Given the description of an element on the screen output the (x, y) to click on. 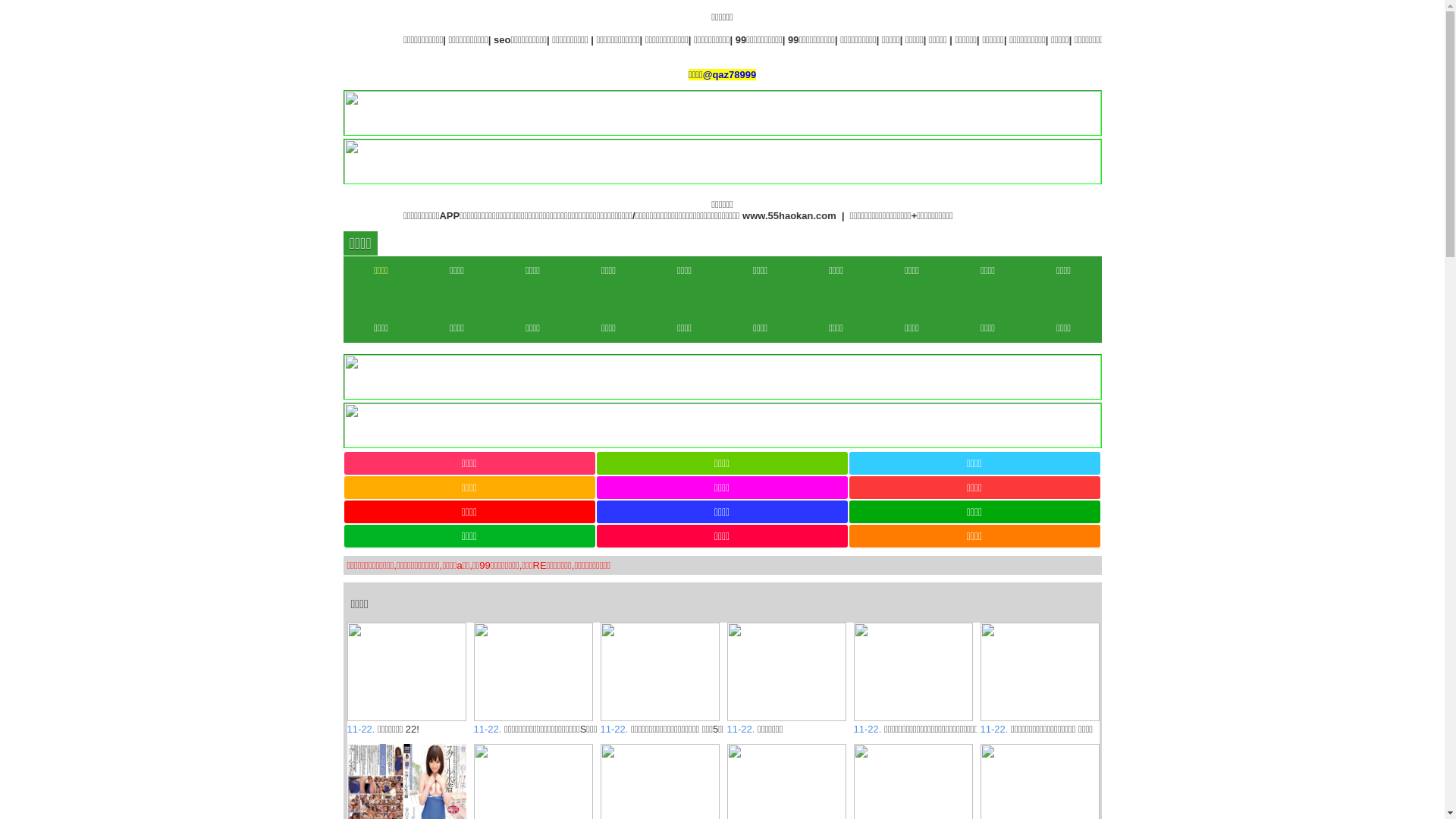
| Element type: text (1254, 39)
| Element type: text (1022, 39)
| Element type: text (848, 39)
| Element type: text (1229, 39)
| Element type: text (1206, 39)
| Element type: text (1341, 39)
| Element type: text (1162, 39)
www.55haokan.com Element type: text (1055, 215)
| Element type: text (936, 39)
| Element type: text (1072, 39)
| Element type: text (1319, 39)
| Element type: text (983, 39)
| Element type: text (1184, 39)
| Element type: text (1280, 39)
| Element type: text (791, 39)
| Element type: text (890, 39)
| Element type: text (1380, 39)
| Element type: text (1123, 39)
| Element type: text (747, 39)
